Given the description of an element on the screen output the (x, y) to click on. 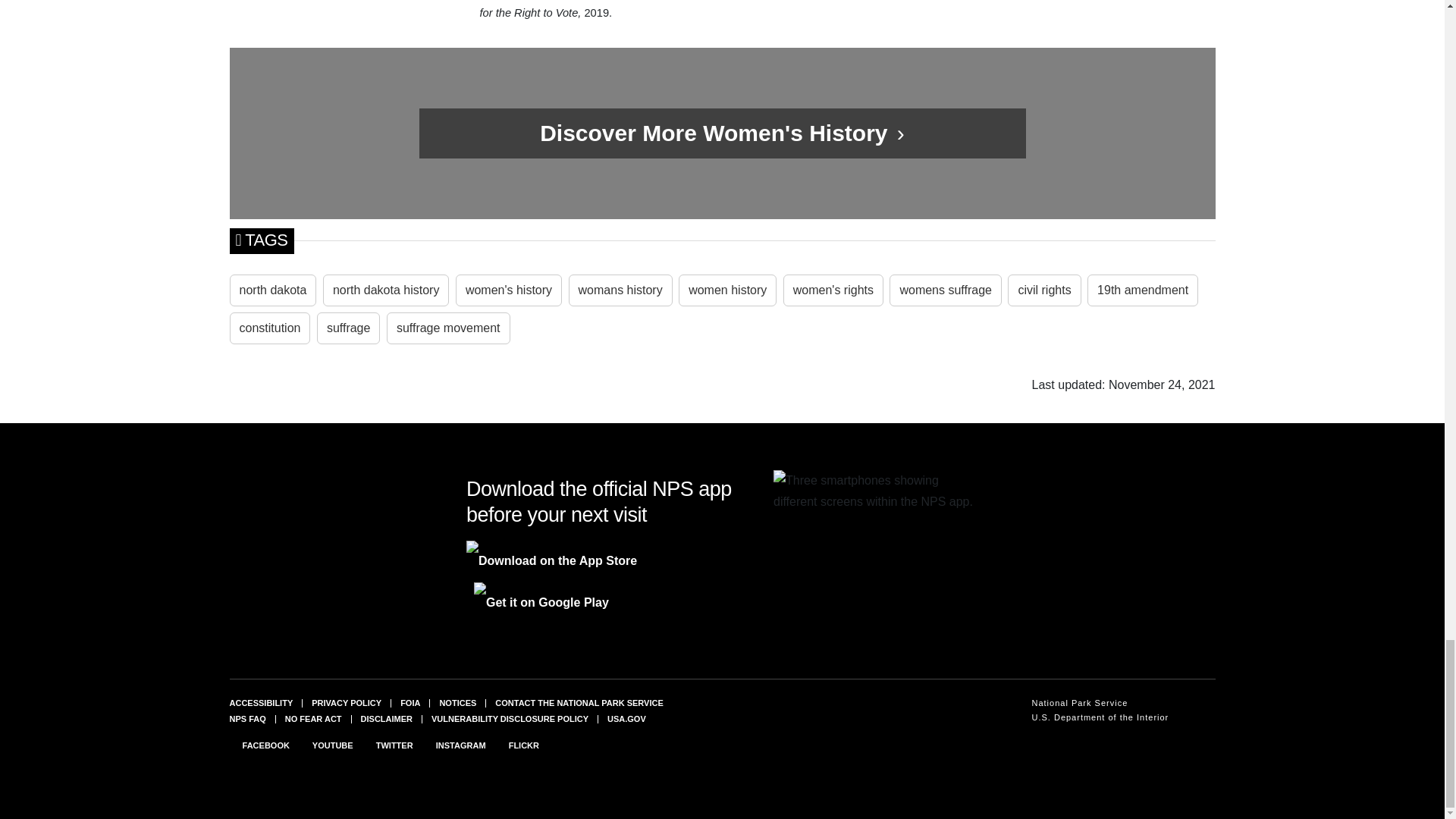
women's rights (833, 290)
suffrage movement (449, 327)
civil rights (1043, 290)
north dakota history (386, 290)
Discover More Women's History (716, 132)
National Park Service frequently asked questions (246, 718)
19th amendment (1142, 290)
womans history (620, 290)
womens suffrage (945, 290)
suffrage (348, 327)
